Given the description of an element on the screen output the (x, y) to click on. 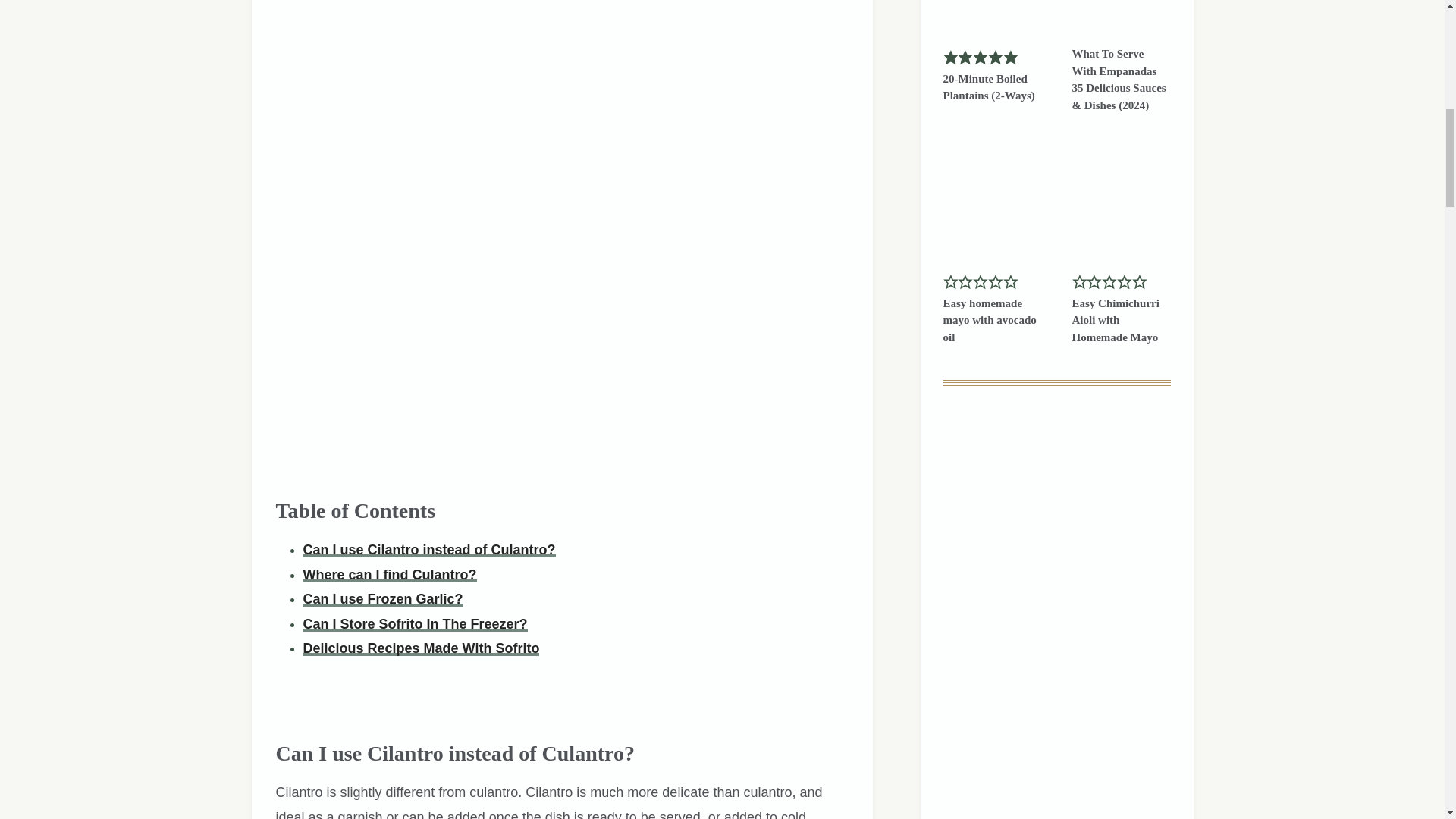
Delicious Recipes Made With Sofrito (421, 648)
Can I use Cilantro instead of Culantro? (429, 549)
Can I use Frozen Garlic? (382, 598)
Can I Store Sofrito In The Freezer? (414, 623)
Where can I find Culantro? (389, 574)
